Given the description of an element on the screen output the (x, y) to click on. 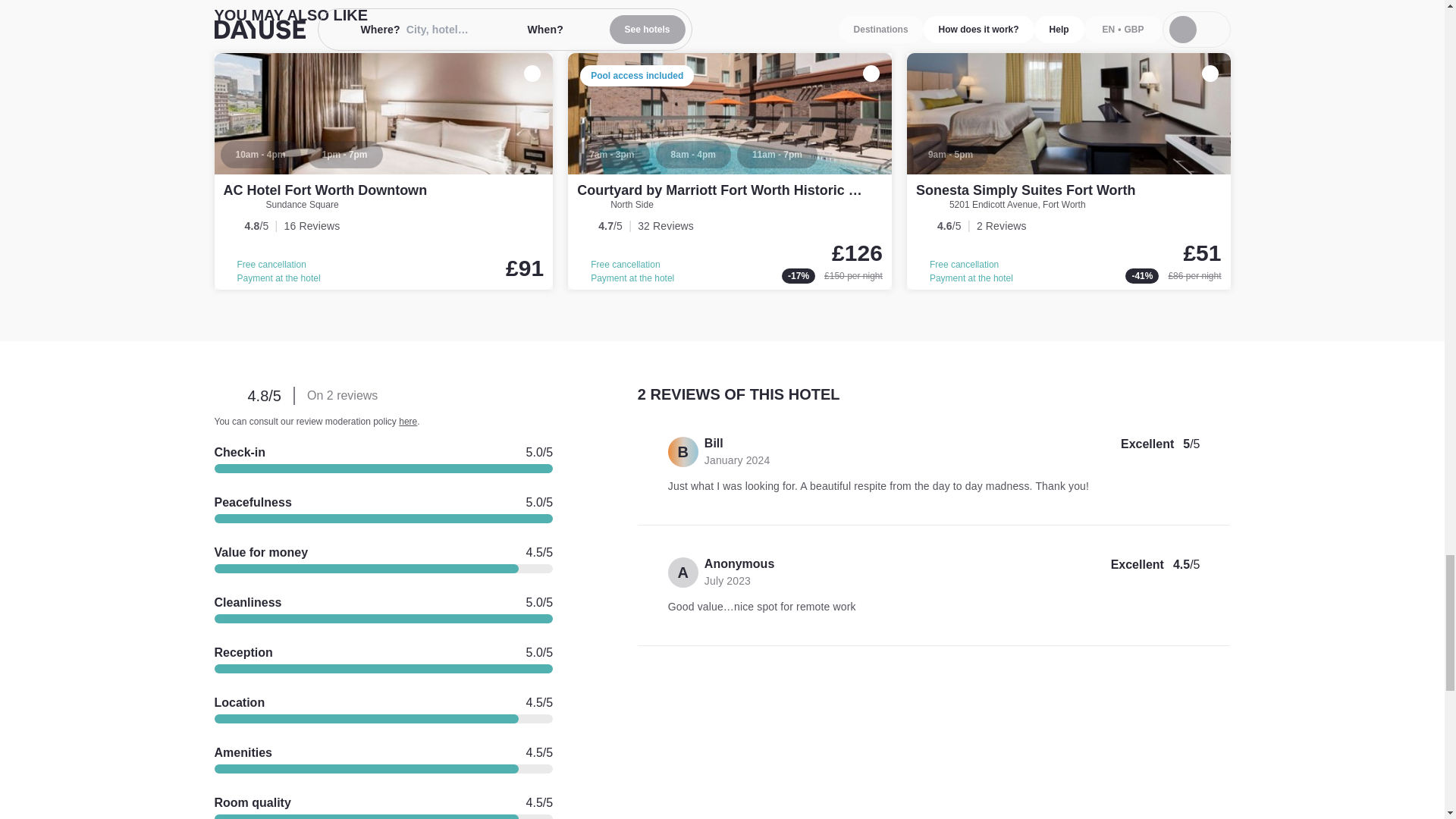
Courtyard by Marriott Fort Worth Historic Stockyards (729, 171)
Courtyard by Marriott Fort Worth Historic Stockyards (748, 190)
Sonesta Simply Suites Fort Worth (1025, 190)
AC Hotel Fort Worth Downtown (324, 190)
Sonesta Simply Suites Fort Worth (1068, 171)
AC Hotel Fort Worth Downtown (383, 171)
